Given the description of an element on the screen output the (x, y) to click on. 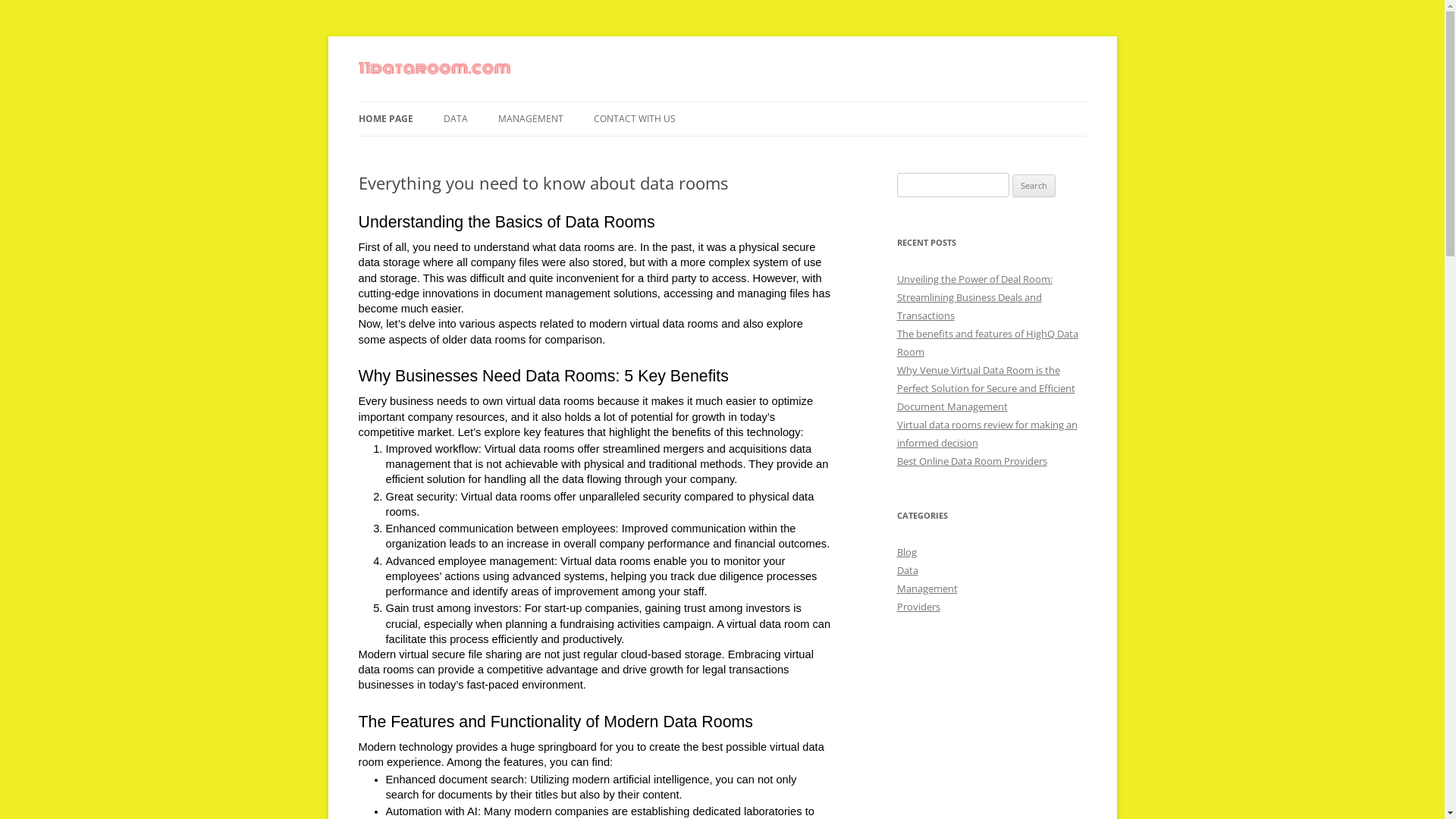
DATA Element type: text (454, 118)
Virtual data rooms review for making an informed decision Element type: text (986, 433)
CONTACT WITH US Element type: text (633, 118)
Skip to content Element type: text (721, 101)
Providers Element type: text (917, 606)
HOME PAGE Element type: text (384, 118)
The benefits and features of HighQ Data Room Element type: text (986, 342)
Search Element type: text (1033, 185)
MANAGEMENT Element type: text (529, 118)
Best Online Data Room Providers Element type: text (971, 460)
Blog Element type: text (906, 551)
Data Element type: text (906, 570)
Management Element type: text (926, 588)
